Given the description of an element on the screen output the (x, y) to click on. 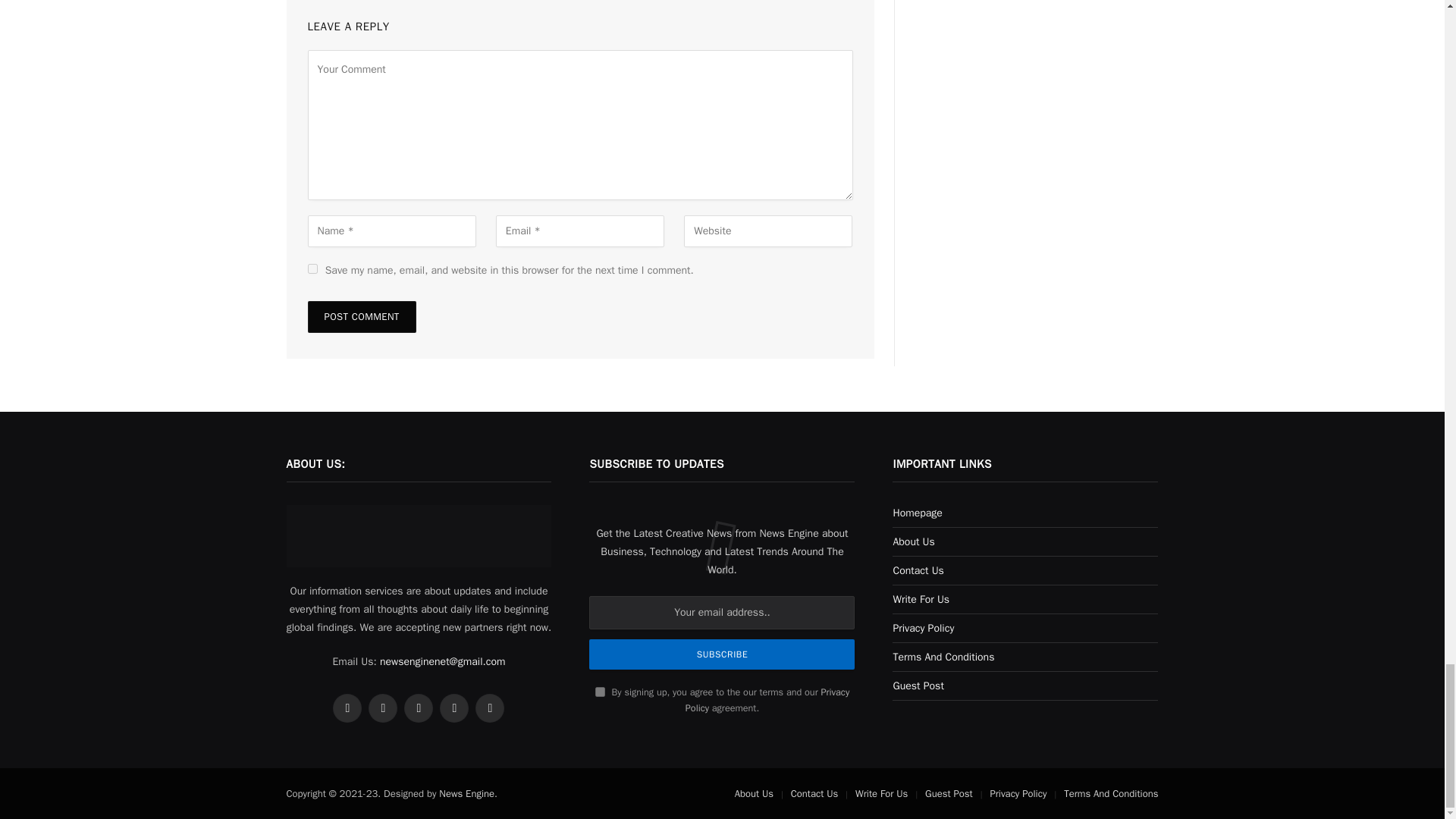
yes (312, 268)
Subscribe (721, 654)
on (600, 691)
Post Comment (361, 316)
